Given the description of an element on the screen output the (x, y) to click on. 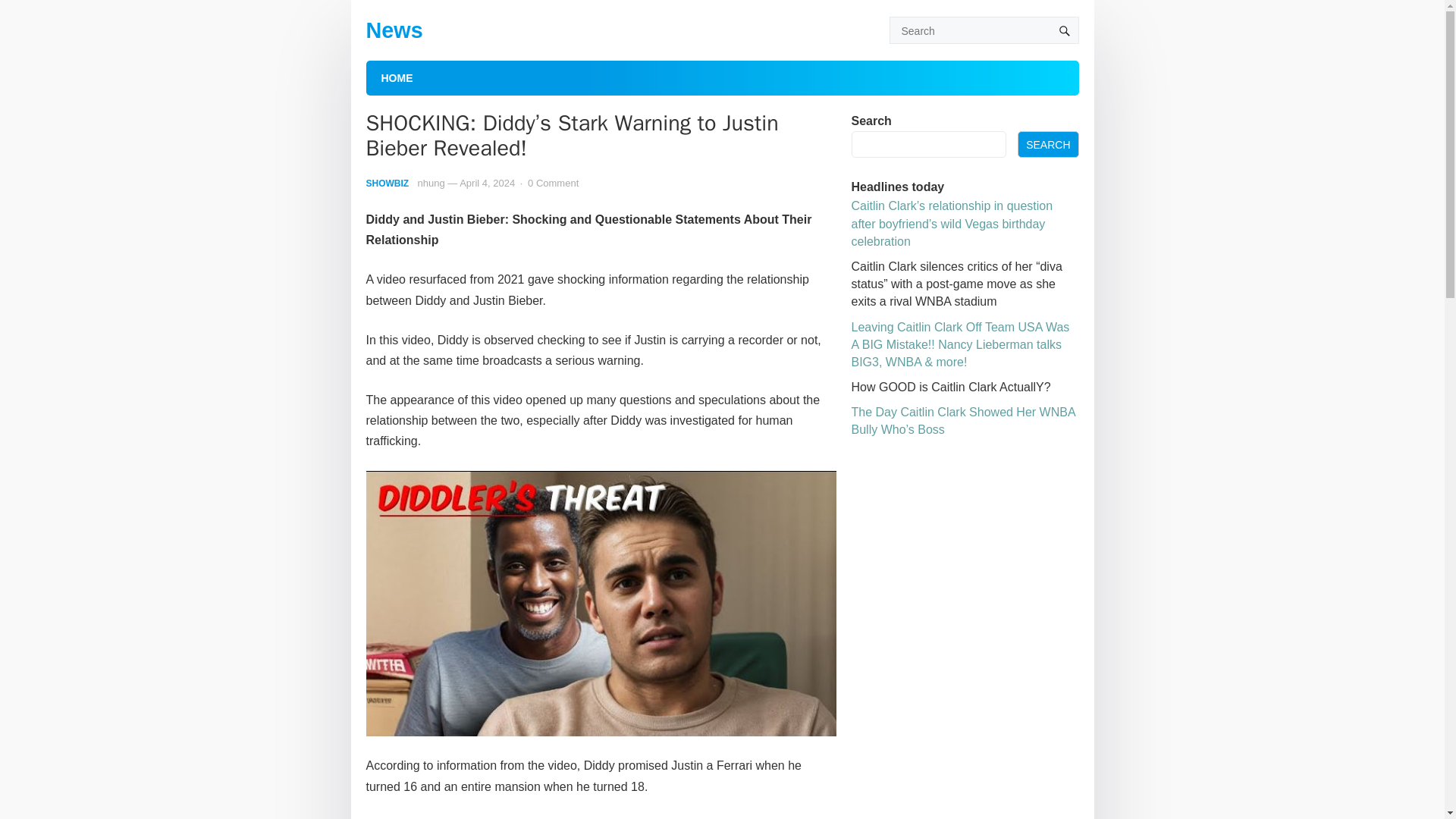
SEARCH (1047, 144)
Posts by nhung (431, 183)
HOME (396, 77)
How GOOD is Caitlin Clark ActuallY? (949, 386)
nhung (431, 183)
0 Comment (552, 183)
News (393, 30)
SHOWBIZ (387, 183)
